Given the description of an element on the screen output the (x, y) to click on. 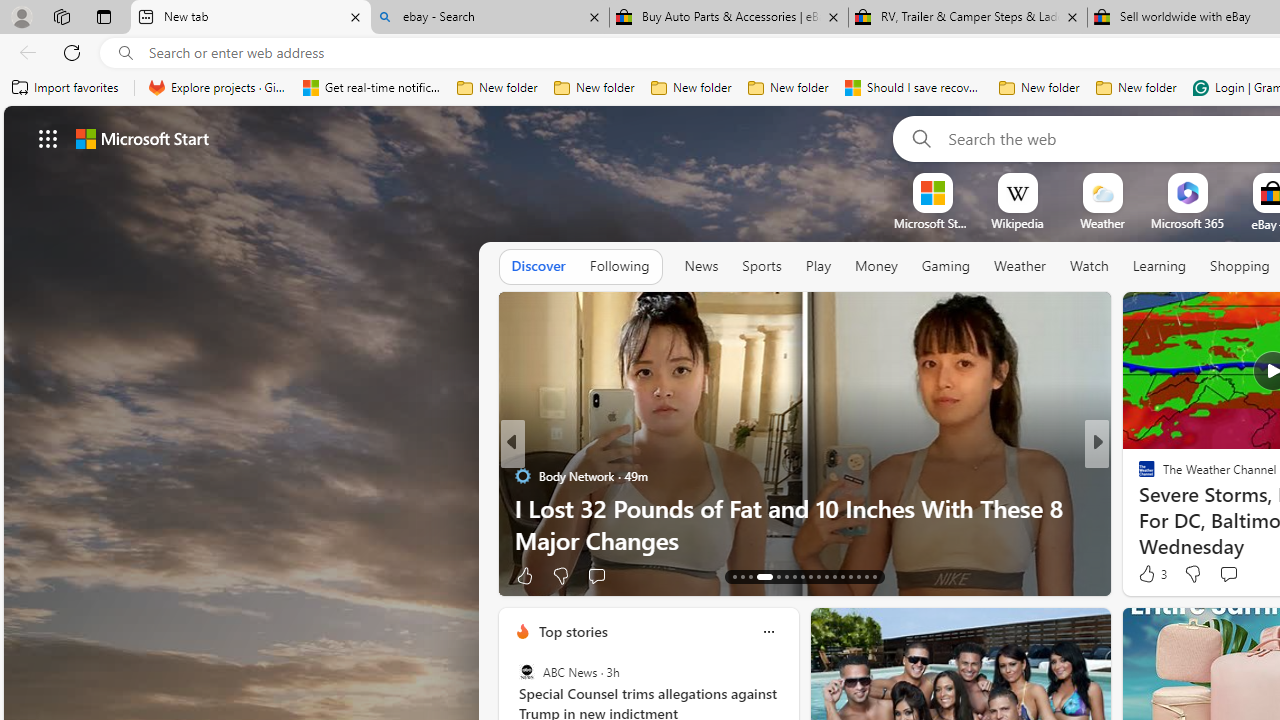
Play (818, 267)
Buy Auto Parts & Accessories | eBay (729, 17)
Sports (761, 267)
Dailymotion (1138, 507)
Gaming (945, 265)
View comments 1 Comment (1241, 574)
Should I save recovered Word documents? - Microsoft Support (913, 88)
Import favorites (65, 88)
Ad (1142, 575)
Watch (1089, 267)
TheStreet (1138, 507)
View comments 96 Comment (619, 575)
More options (768, 631)
Verywell Mind (1138, 507)
